Given the description of an element on the screen output the (x, y) to click on. 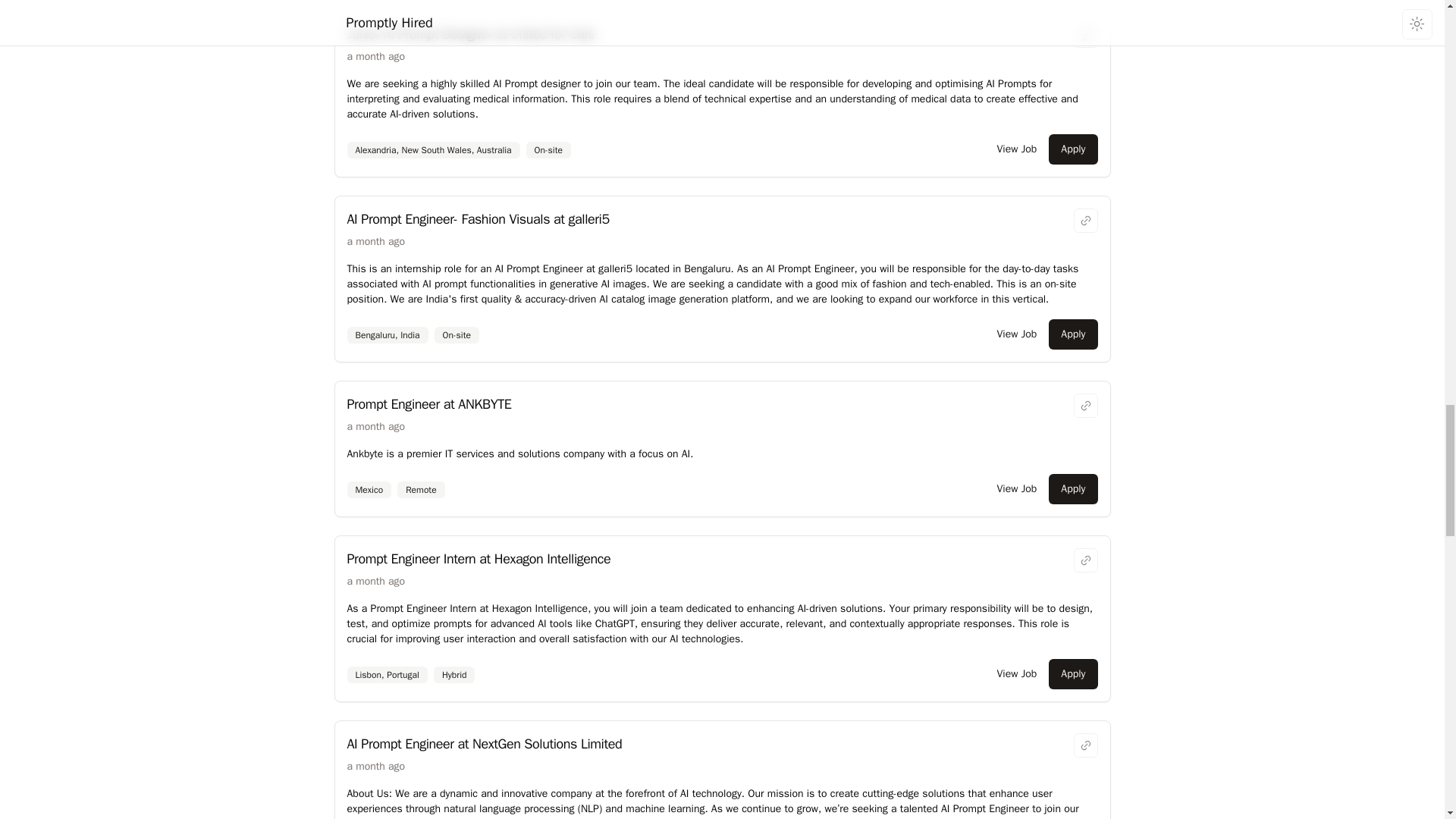
Posted on June 23, 2024 (376, 56)
Posted on June 19, 2024 (376, 766)
Posted on June 21, 2024 (376, 426)
Posted on June 23, 2024 (376, 241)
Posted on June 20, 2024 (376, 581)
